Given the description of an element on the screen output the (x, y) to click on. 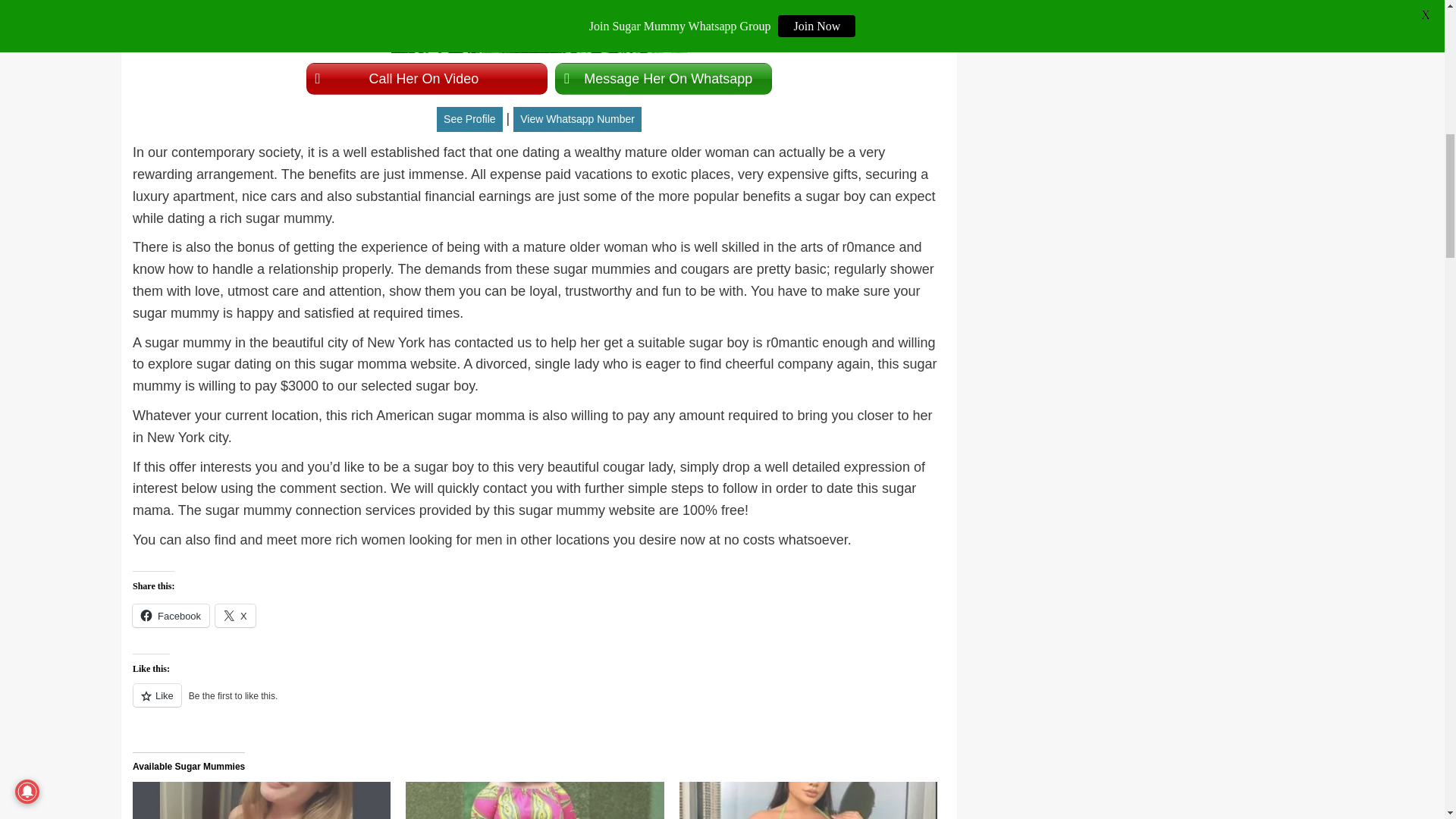
Click to share on Facebook (170, 615)
View Whatsapp Number (577, 119)
See Profile (469, 119)
Facebook (170, 615)
X (235, 615)
sugar momma. 5 (539, 26)
Click to share on X (235, 615)
  Message Her On Whatsapp    (662, 79)
Like or Reblog (538, 703)
           Call Her On Video                 (426, 79)
